Given the description of an element on the screen output the (x, y) to click on. 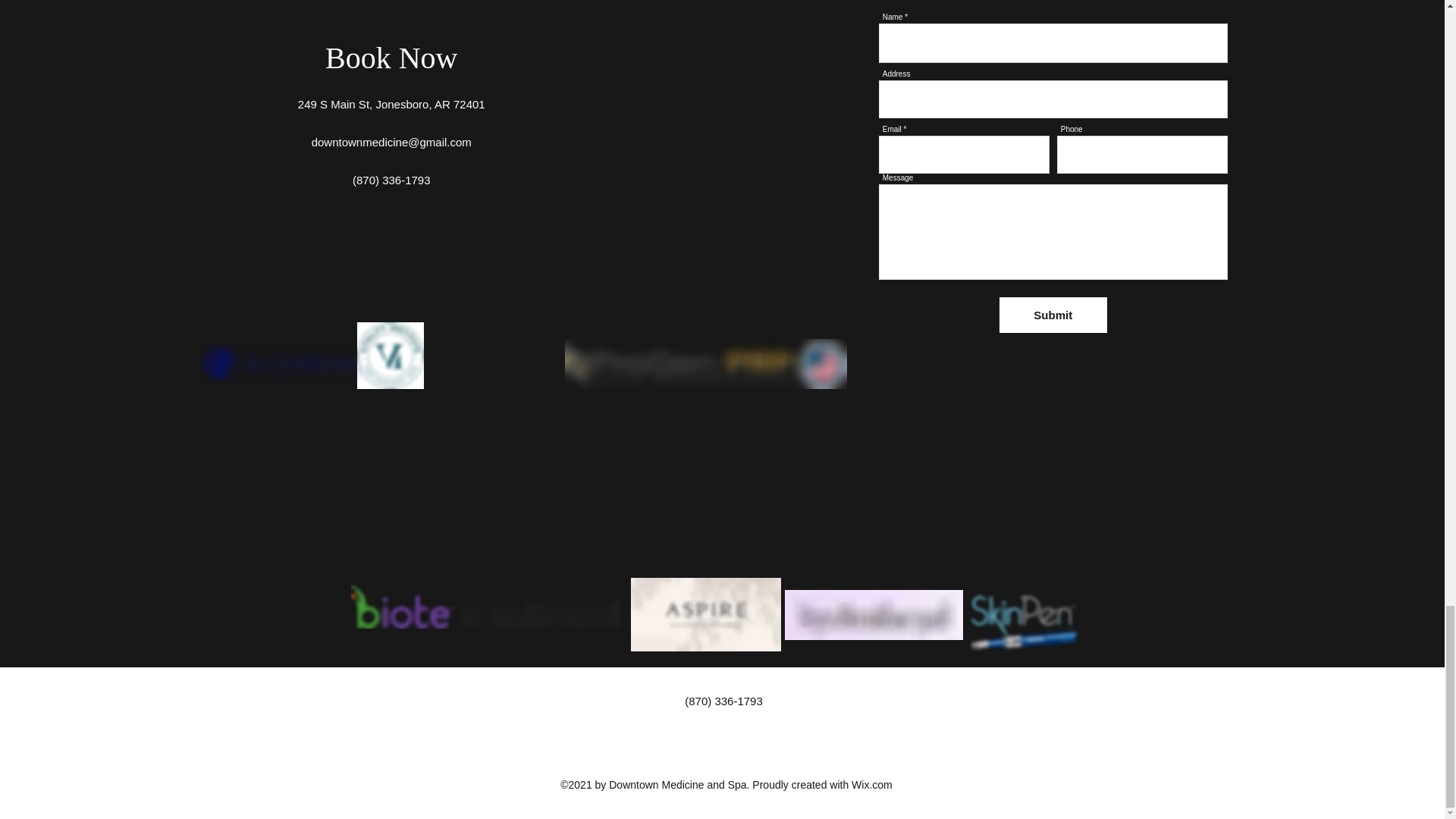
Submit (1052, 314)
